Given the description of an element on the screen output the (x, y) to click on. 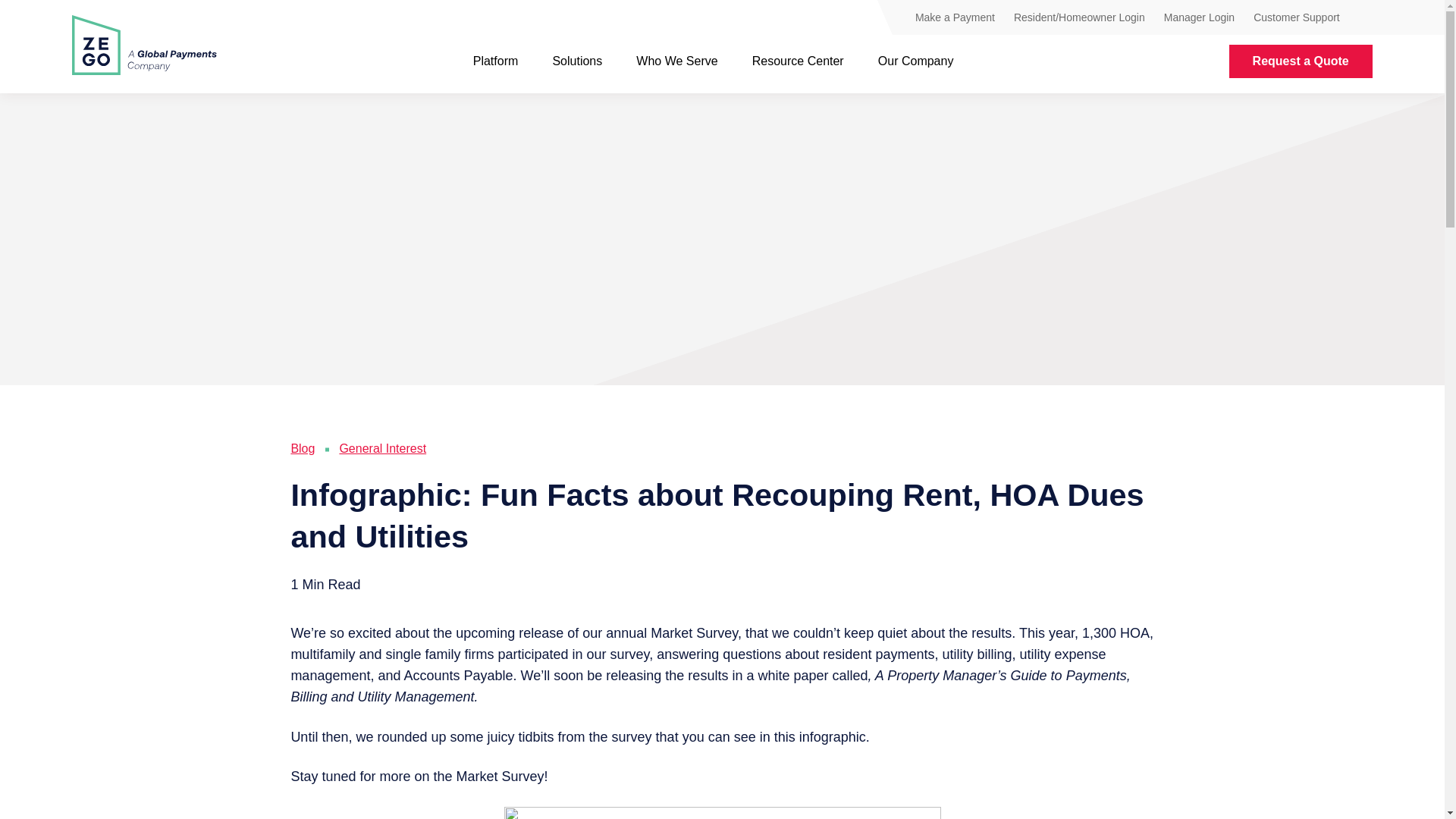
Make a Payment (954, 17)
Platform (495, 60)
Search (1365, 19)
Manager Login (1198, 17)
Customer Support (1296, 17)
Search (1365, 19)
Who We Serve (676, 60)
Solutions (576, 60)
